Given the description of an element on the screen output the (x, y) to click on. 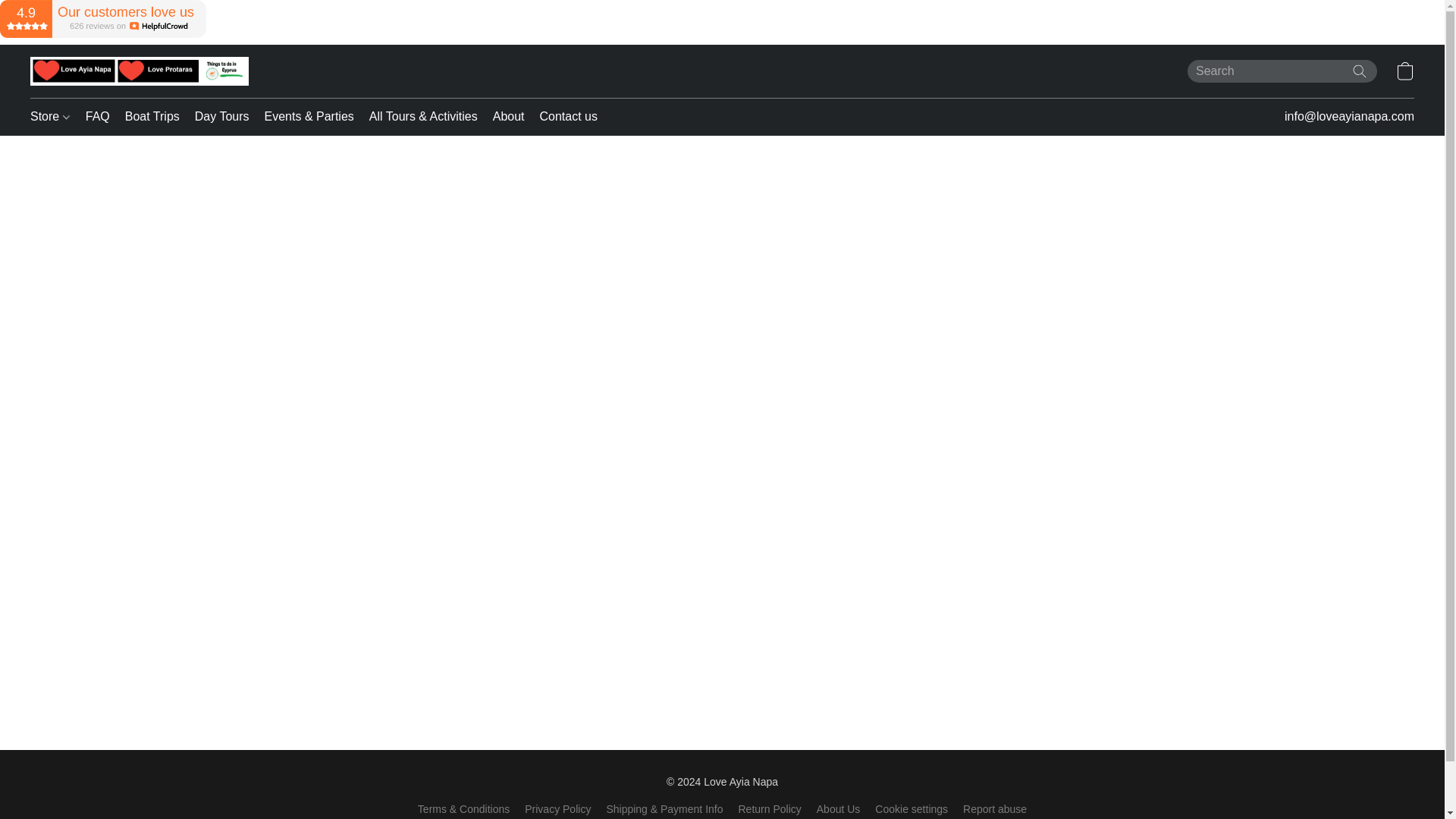
Go to your shopping cart (1404, 70)
Day Tours (222, 116)
Boat Trips (152, 116)
About (508, 116)
Report abuse (994, 809)
About Us (838, 809)
Privacy Policy (557, 809)
FAQ (97, 116)
Return Policy (770, 809)
Contact us (564, 116)
